Given the description of an element on the screen output the (x, y) to click on. 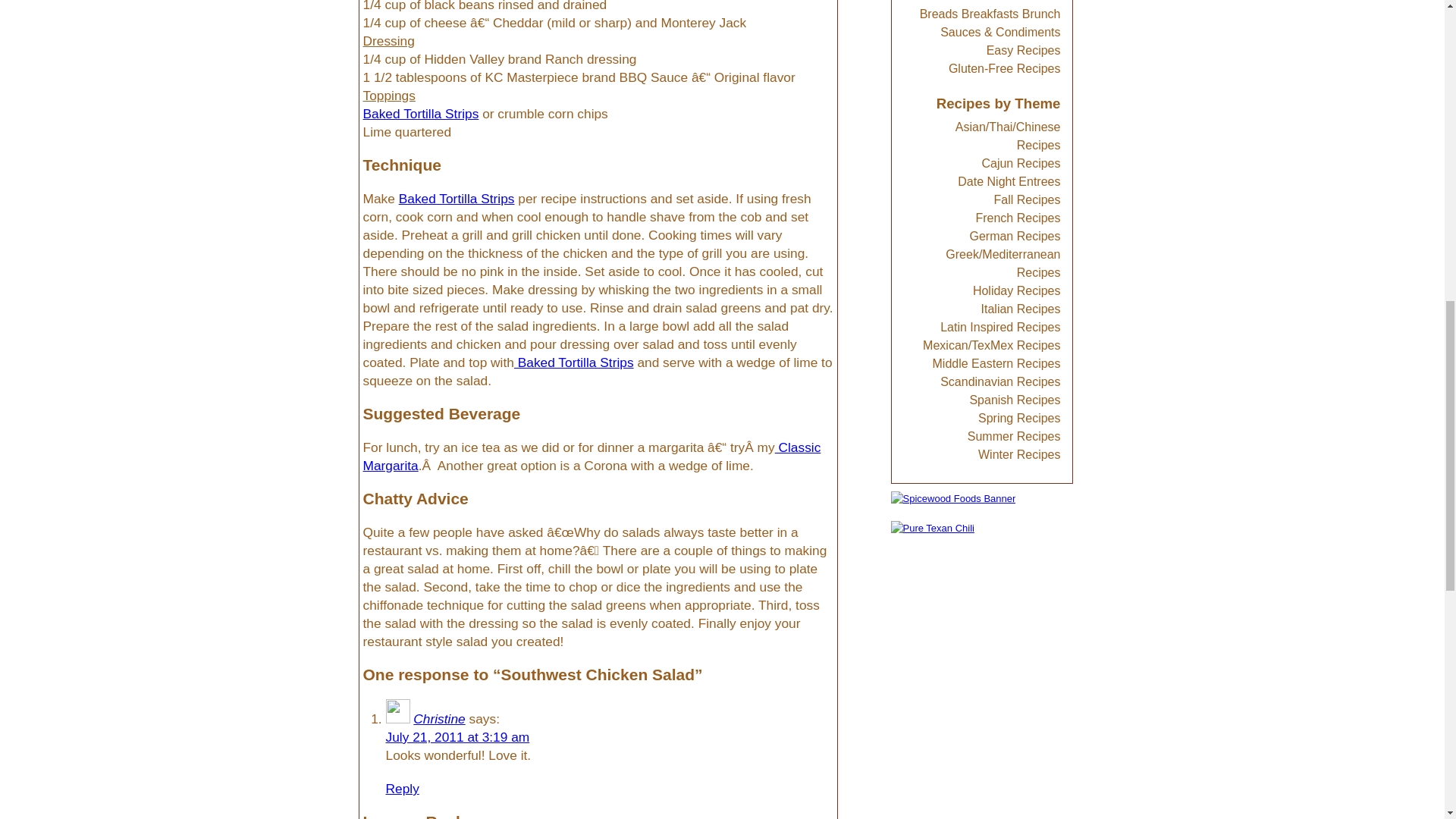
Breads Breakfasts Brunch (990, 13)
Classic Margarita (591, 456)
July 21, 2011 at 3:19 am (457, 736)
Christine (438, 718)
Baked Tortilla Strips (456, 198)
Baked Tortilla Strips (573, 362)
Easy Recipes (1024, 50)
Baked Tortilla Strips (420, 113)
Baked Tortilla Strips (420, 113)
Desserts (1035, 1)
